Given the description of an element on the screen output the (x, y) to click on. 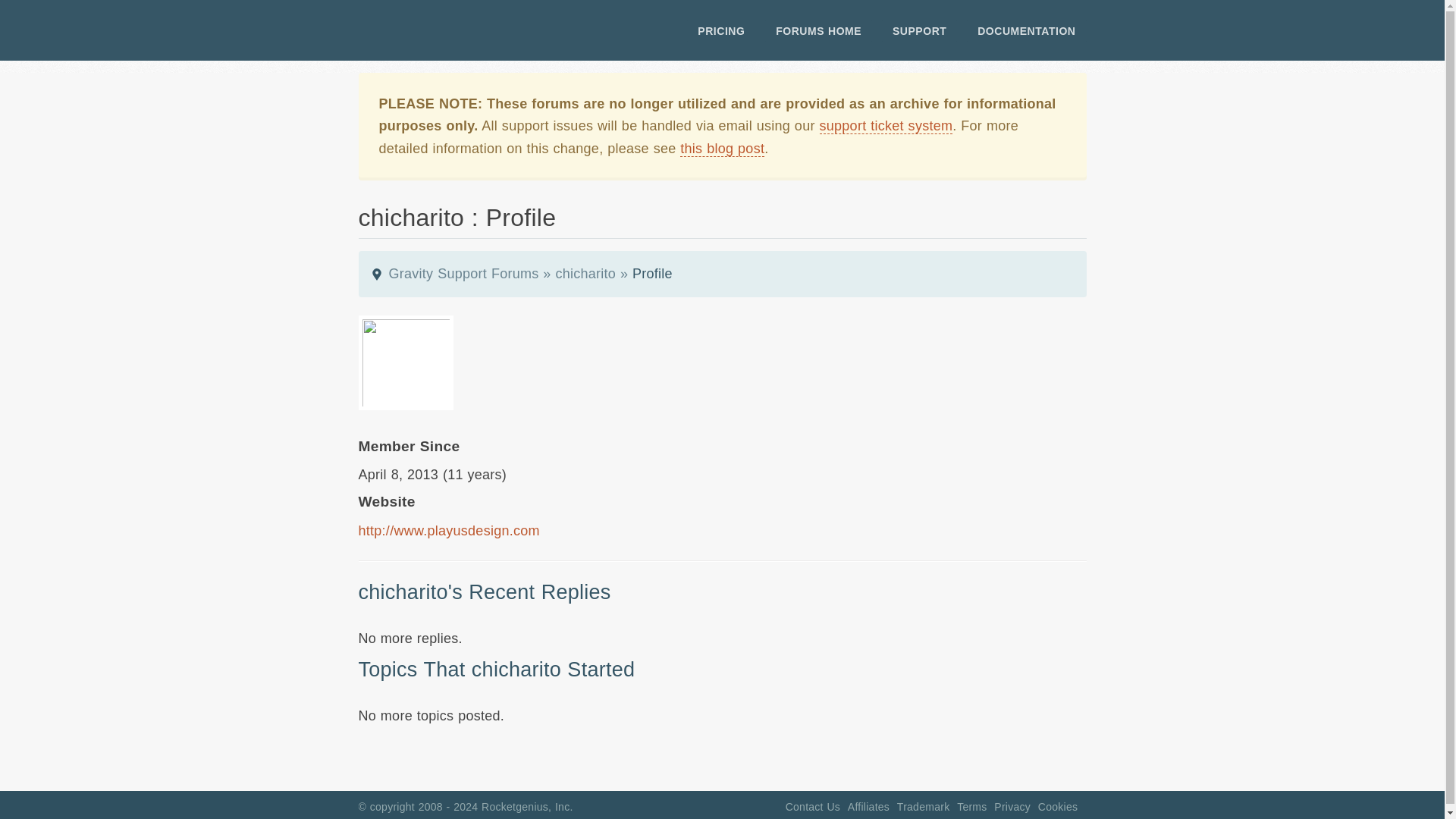
DOCUMENTATION (1026, 30)
Terms (971, 806)
Cookies (1057, 806)
Rocketgenius, Inc. (527, 806)
SUPPORT (919, 30)
Contact Us (813, 806)
Gravity Support Forums (463, 273)
Trademark (923, 806)
this blog post (721, 148)
support ticket system (885, 125)
FORUMS HOME (818, 30)
Privacy (1012, 806)
chicharito (584, 273)
Affiliates (868, 806)
PRICING (721, 30)
